Given the description of an element on the screen output the (x, y) to click on. 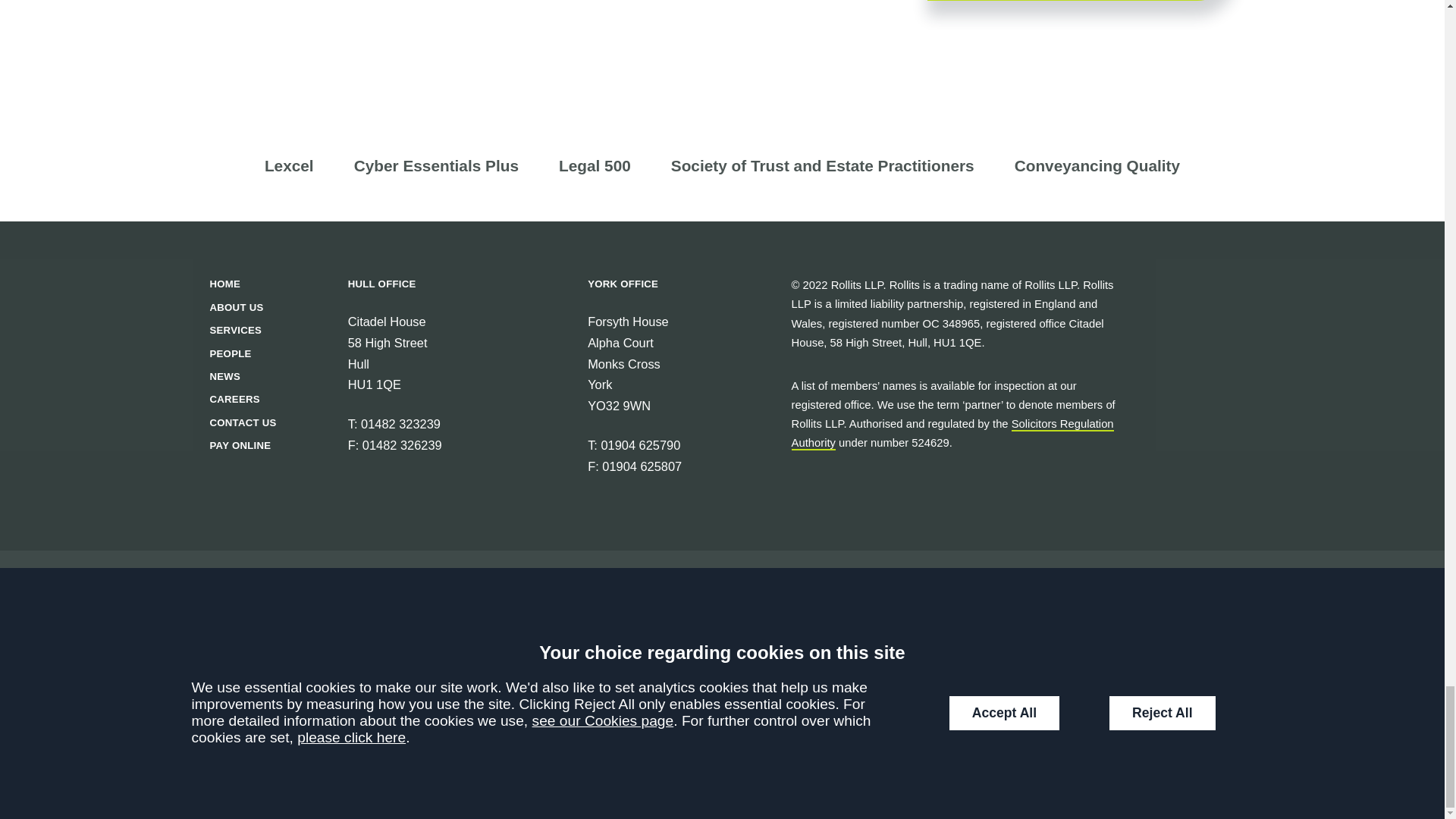
Search the site (345, 709)
